Given the description of an element on the screen output the (x, y) to click on. 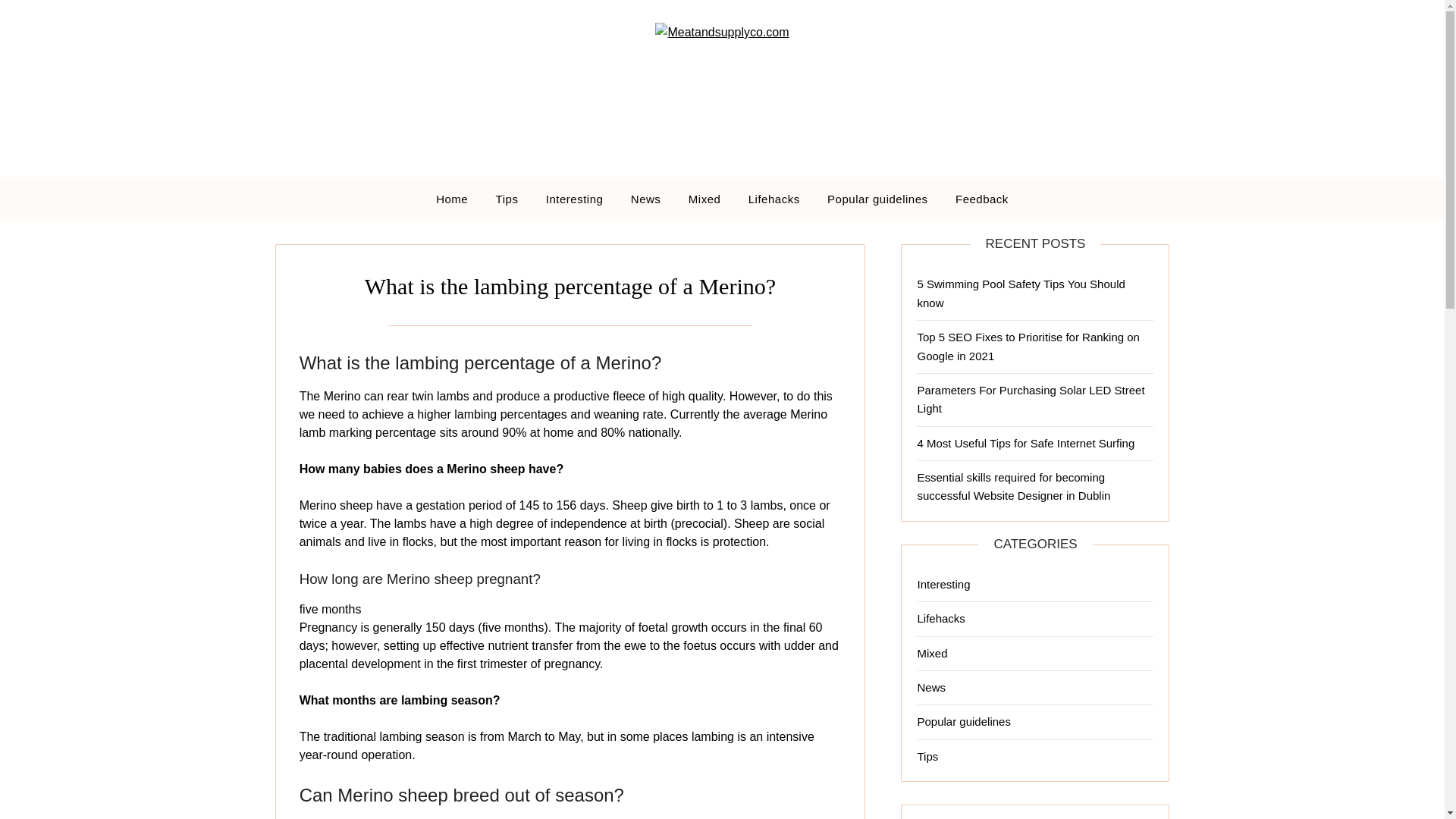
4 Most Useful Tips for Safe Internet Surfing (1025, 442)
Top 5 SEO Fixes to Prioritise for Ranking on Google in 2021 (1027, 345)
Lifehacks (774, 199)
Parameters For Purchasing Solar LED Street Light (1030, 399)
Feedback (981, 199)
Mixed (932, 653)
News (645, 199)
Tips (507, 199)
News (930, 686)
Home (451, 199)
